Given the description of an element on the screen output the (x, y) to click on. 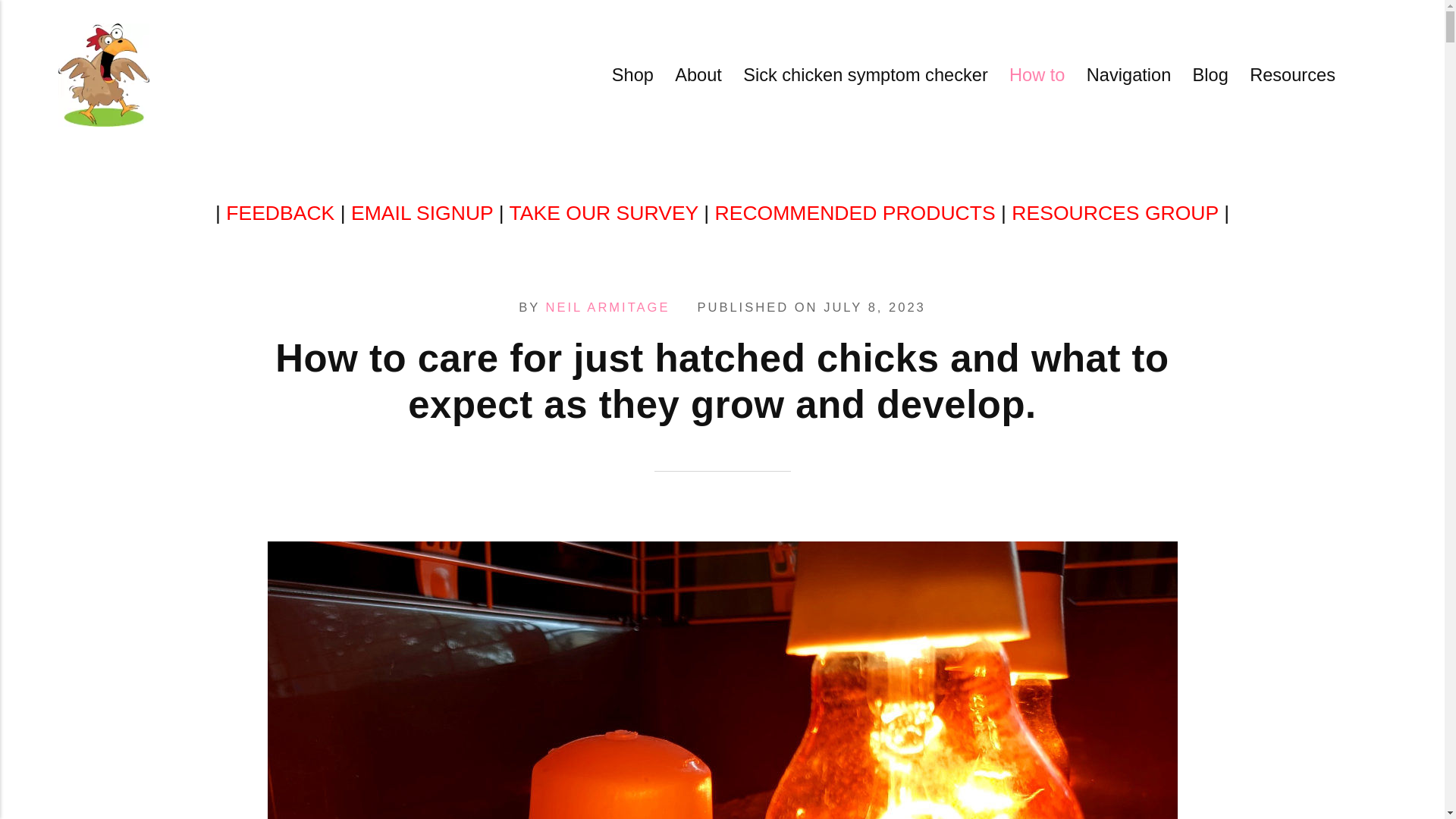
About (697, 74)
Neil Armitage (607, 307)
Sick chicken symptom checker (865, 74)
Shop (632, 74)
